Given the description of an element on the screen output the (x, y) to click on. 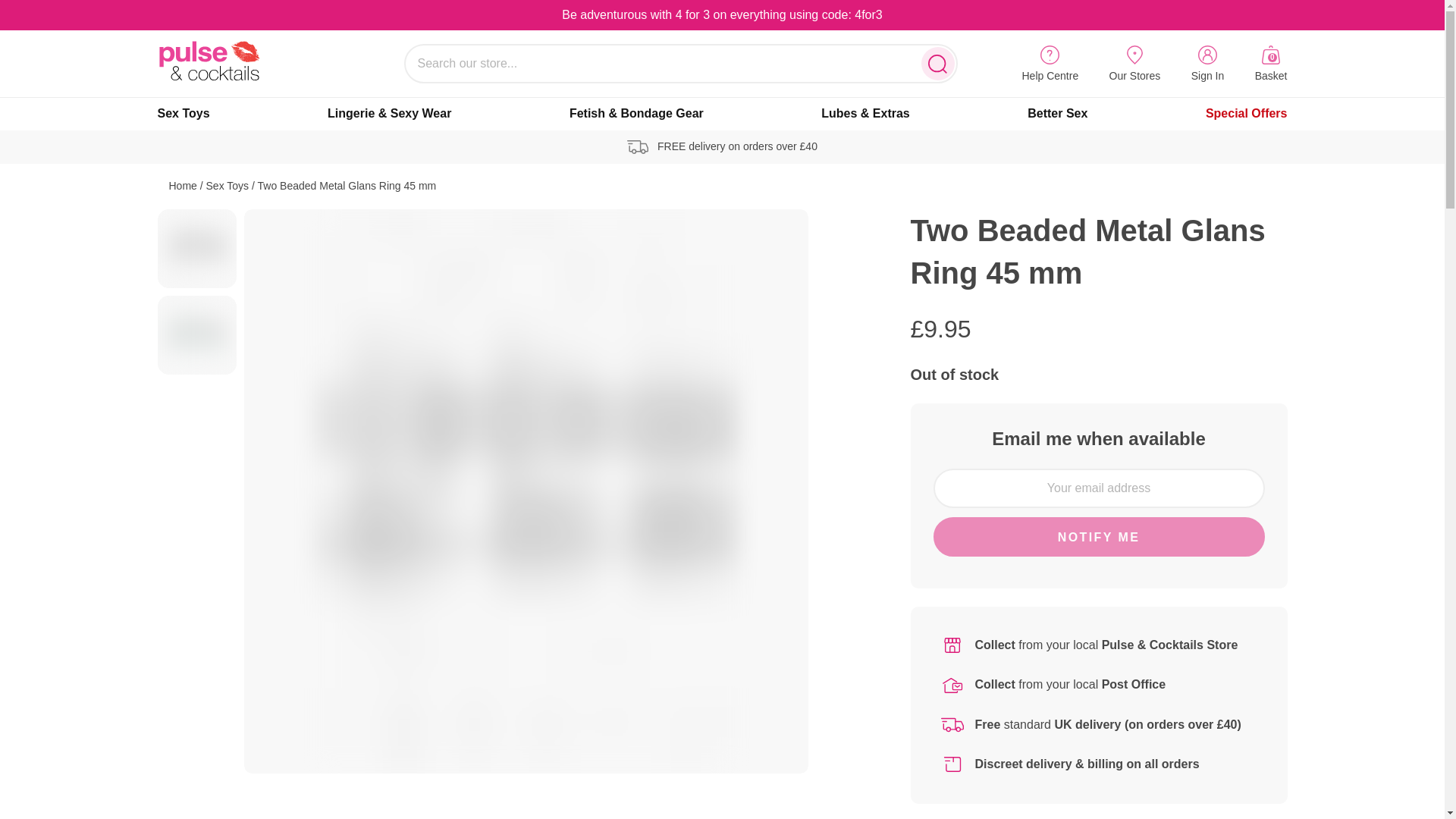
SEARCH (1134, 64)
Notify me (183, 113)
